Given the description of an element on the screen output the (x, y) to click on. 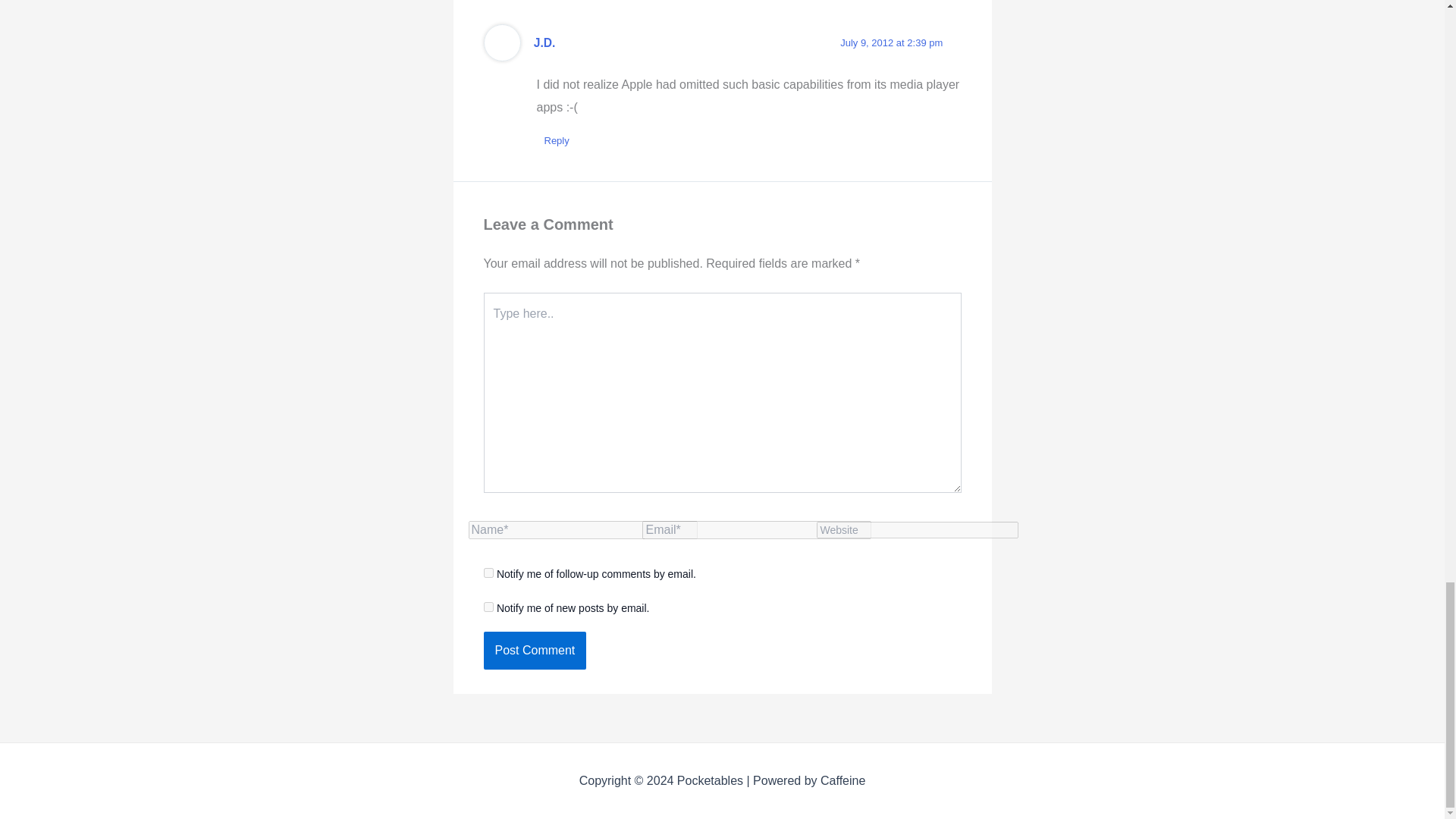
subscribe (488, 573)
Post Comment (534, 650)
subscribe (488, 606)
